Given the description of an element on the screen output the (x, y) to click on. 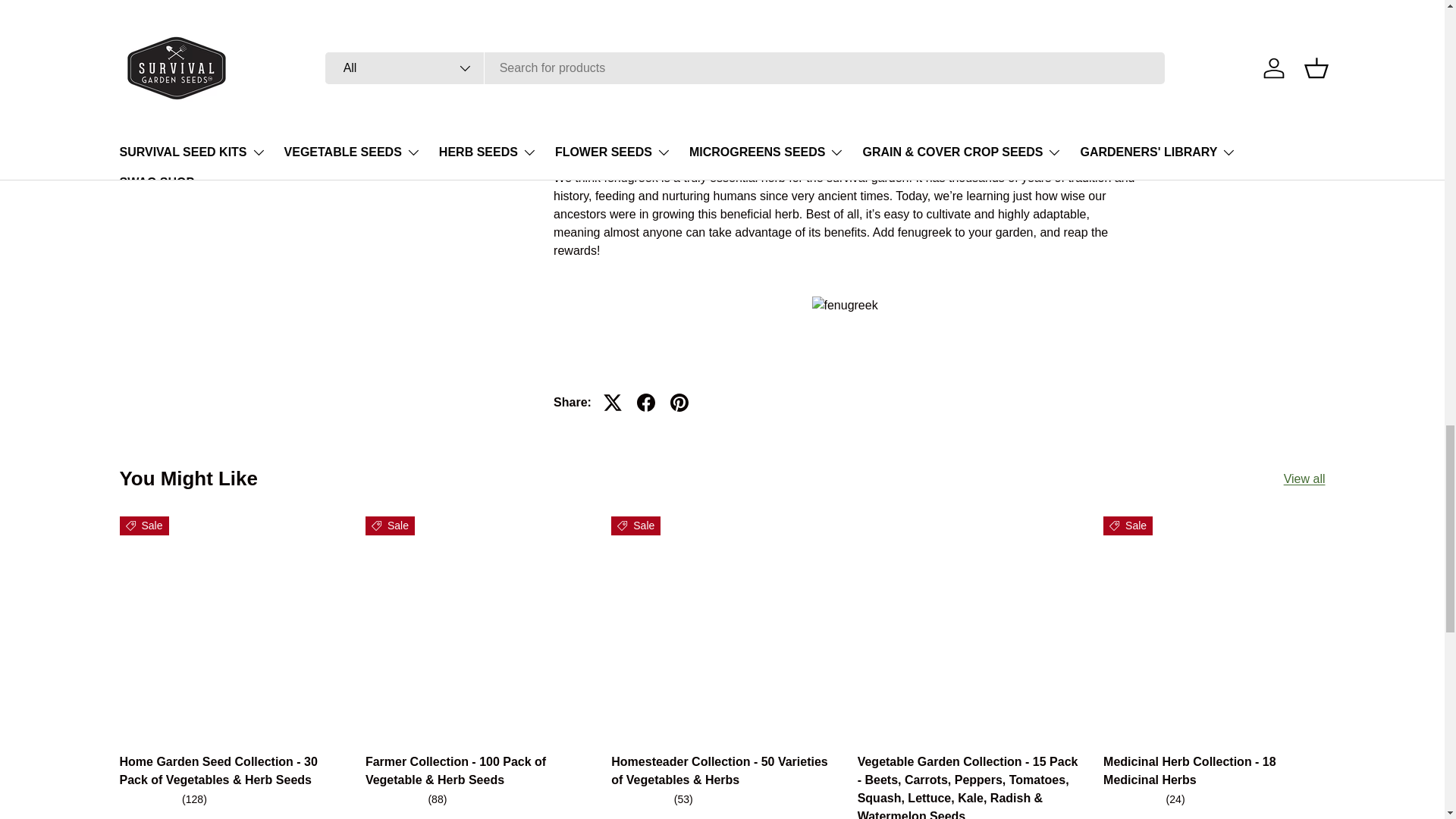
Pin on Pinterest (678, 402)
Share on Facebook (645, 402)
Tweet on X (611, 402)
